Given the description of an element on the screen output the (x, y) to click on. 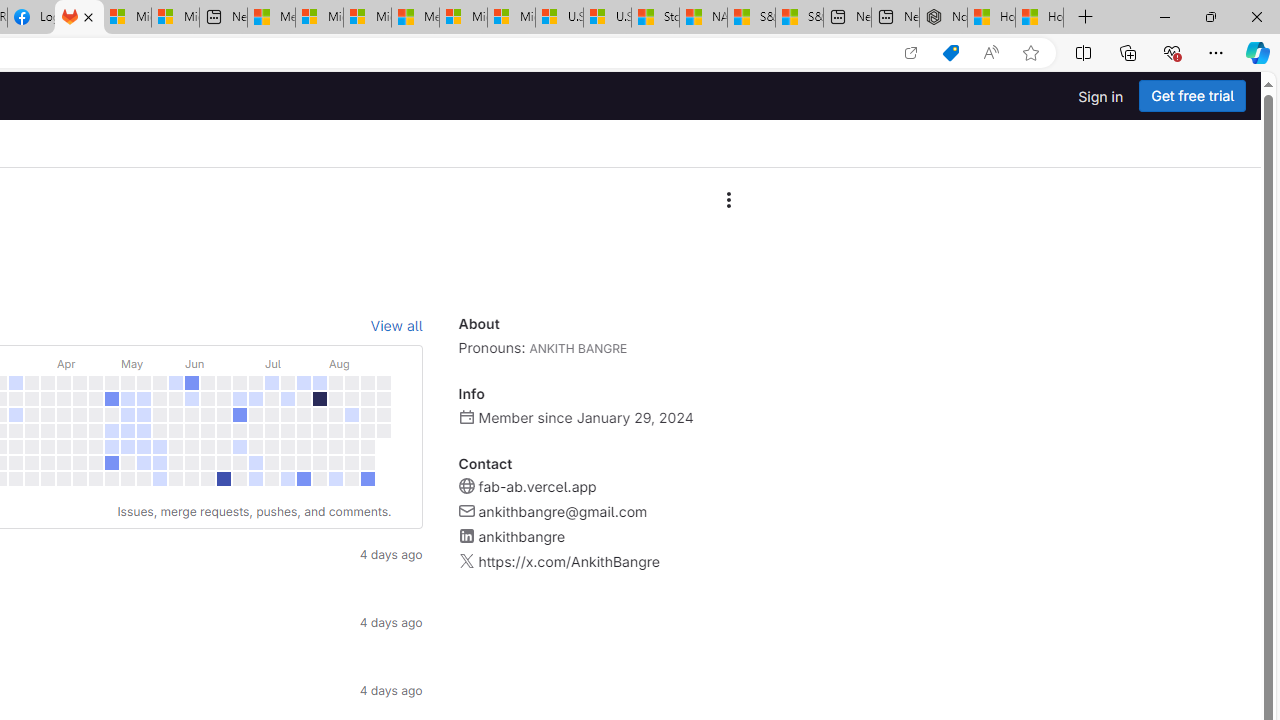
S&P 500, Nasdaq end lower, weighed by Nvidia dip | Watch (799, 17)
